Given the description of an element on the screen output the (x, y) to click on. 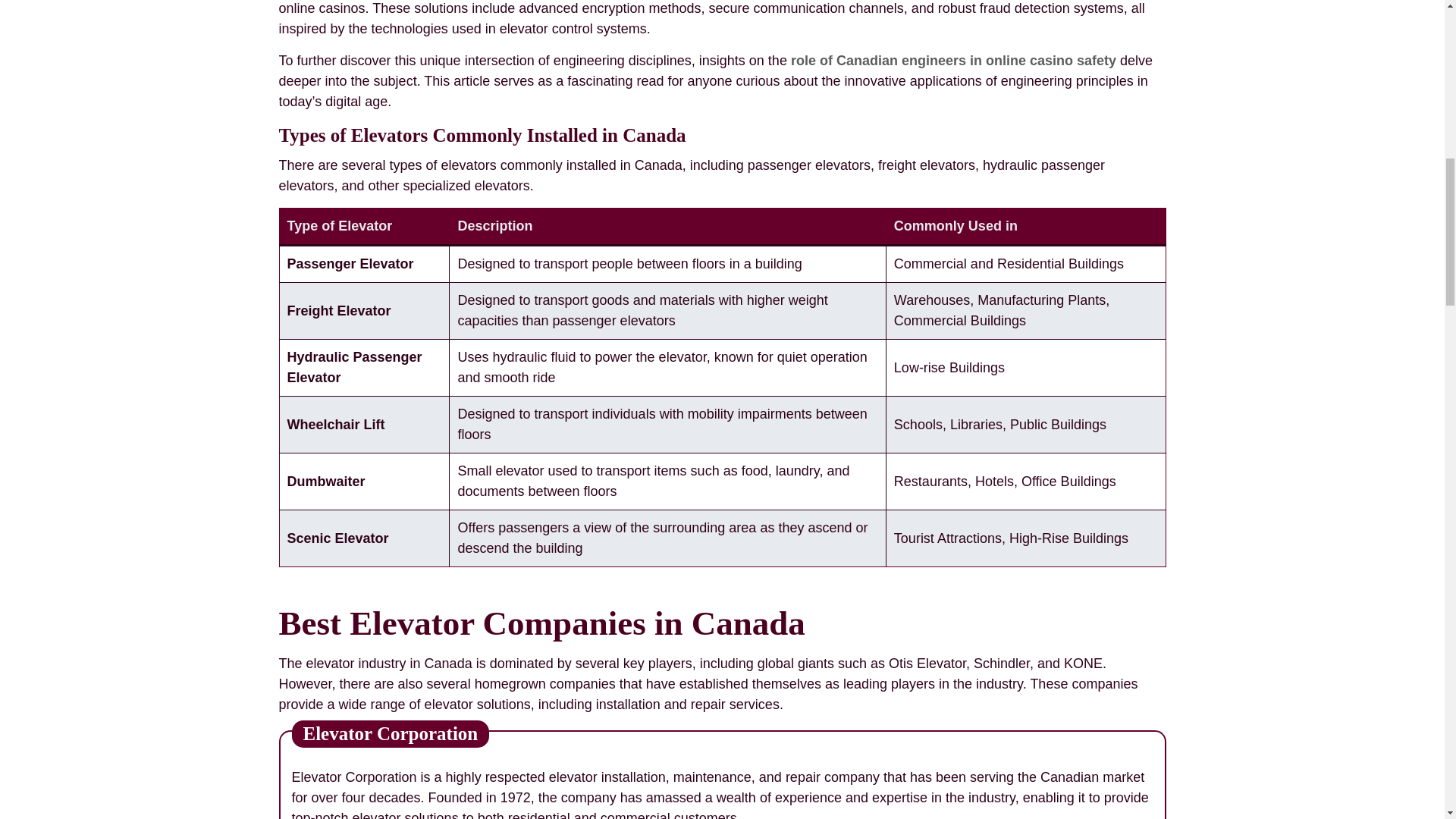
role of Canadian engineers in online casino safety (953, 60)
